Given the description of an element on the screen output the (x, y) to click on. 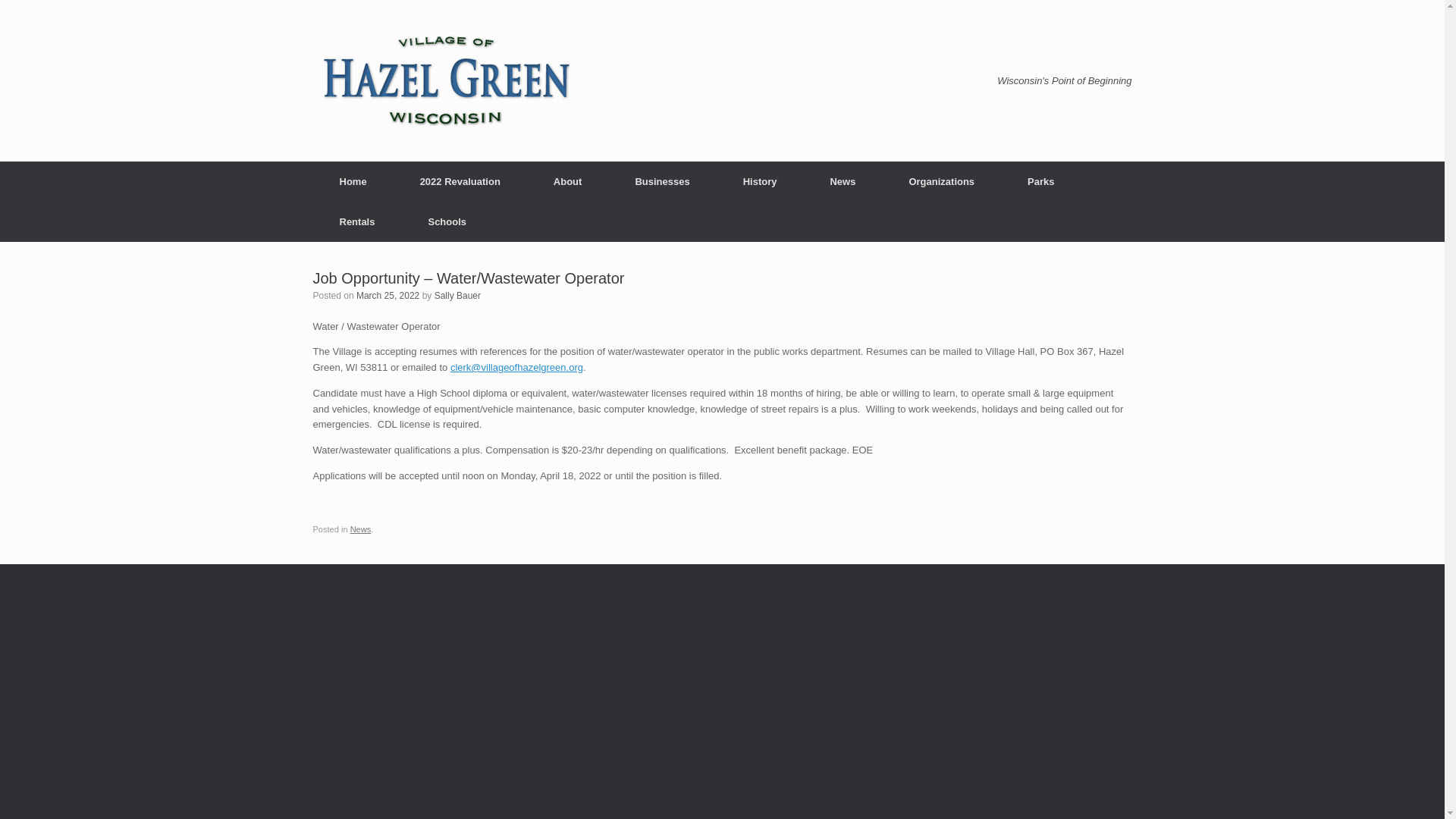
Sally Bauer (456, 295)
Businesses (662, 181)
4:20 PM (387, 295)
Schools (447, 221)
News (360, 528)
Village of Hazel Green (445, 80)
March 25, 2022 (387, 295)
Home (353, 181)
News (842, 181)
About (567, 181)
